Given the description of an element on the screen output the (x, y) to click on. 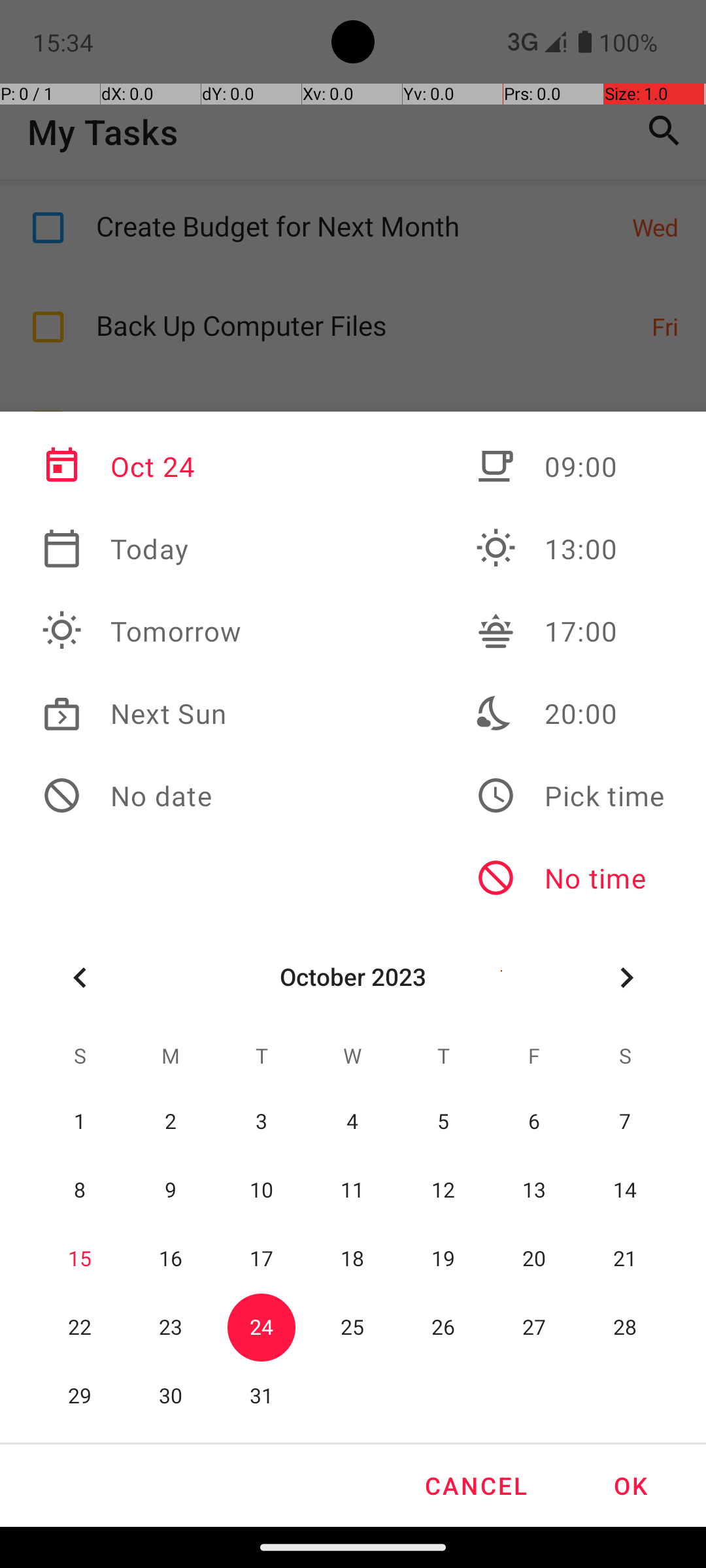
Oct 24 Element type: android.widget.CompoundButton (141, 466)
